Given the description of an element on the screen output the (x, y) to click on. 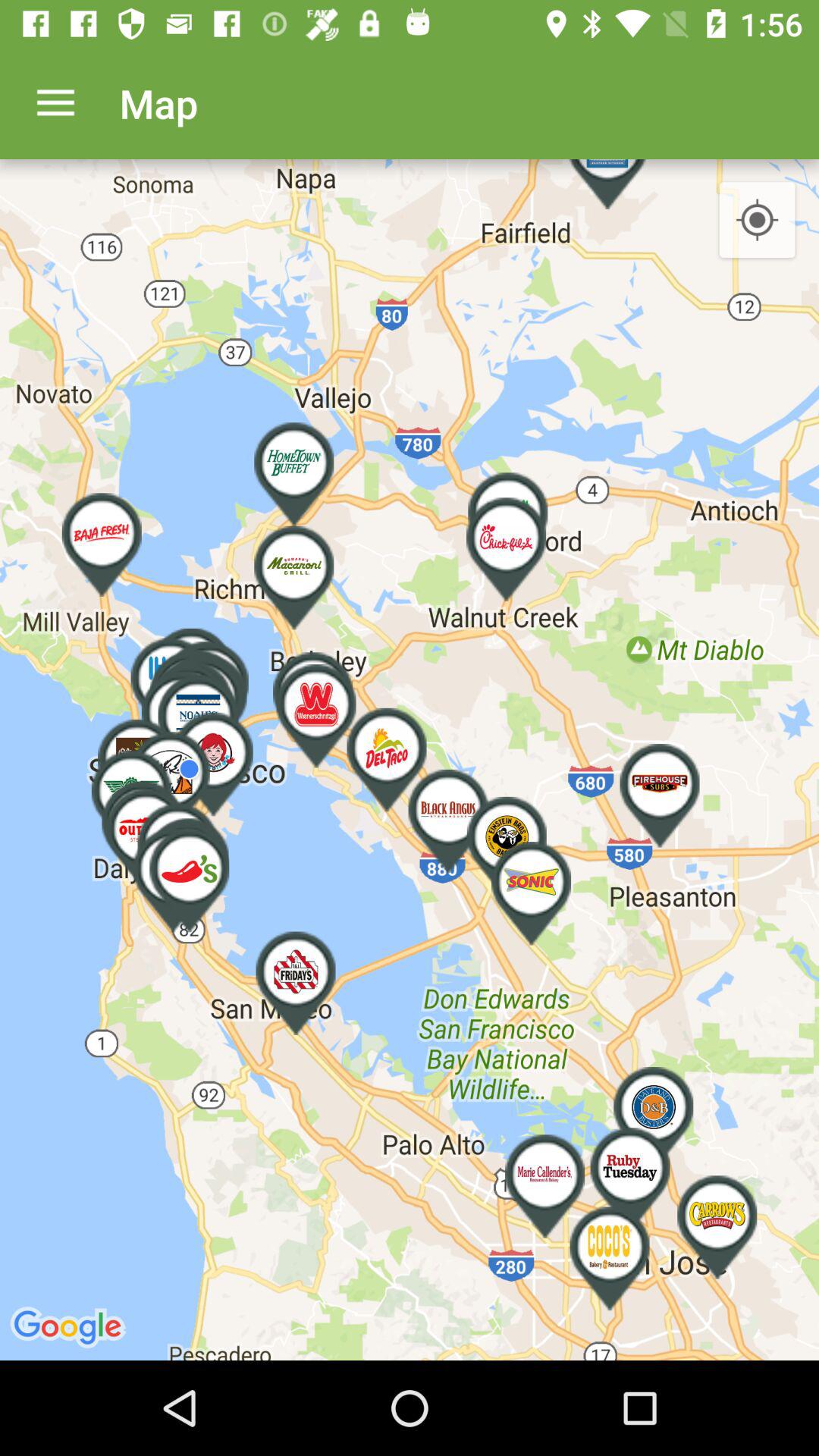
turn off item next to map (55, 103)
